Given the description of an element on the screen output the (x, y) to click on. 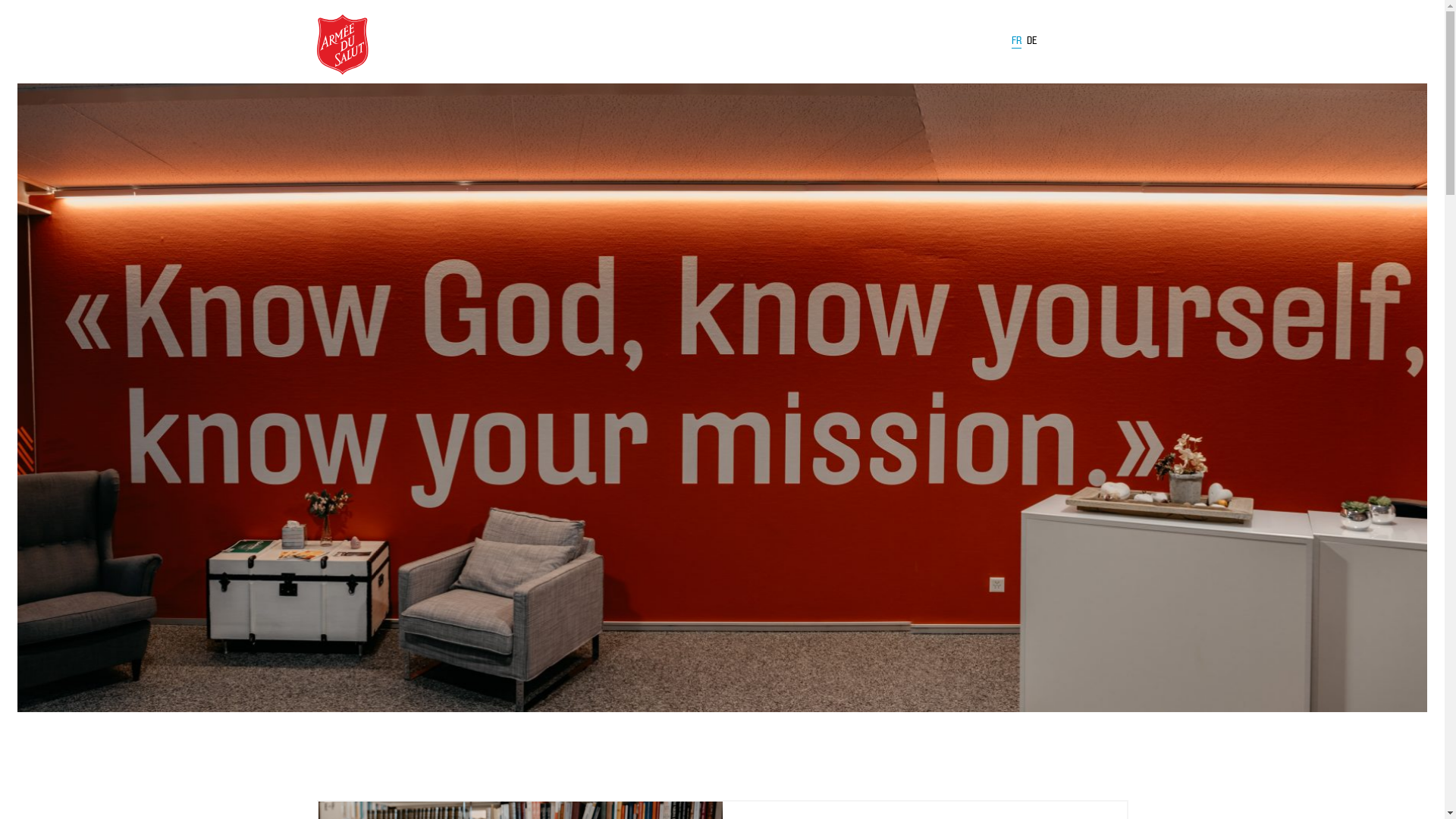
FR Element type: text (1016, 42)
DE Element type: text (1031, 40)
